Given the description of an element on the screen output the (x, y) to click on. 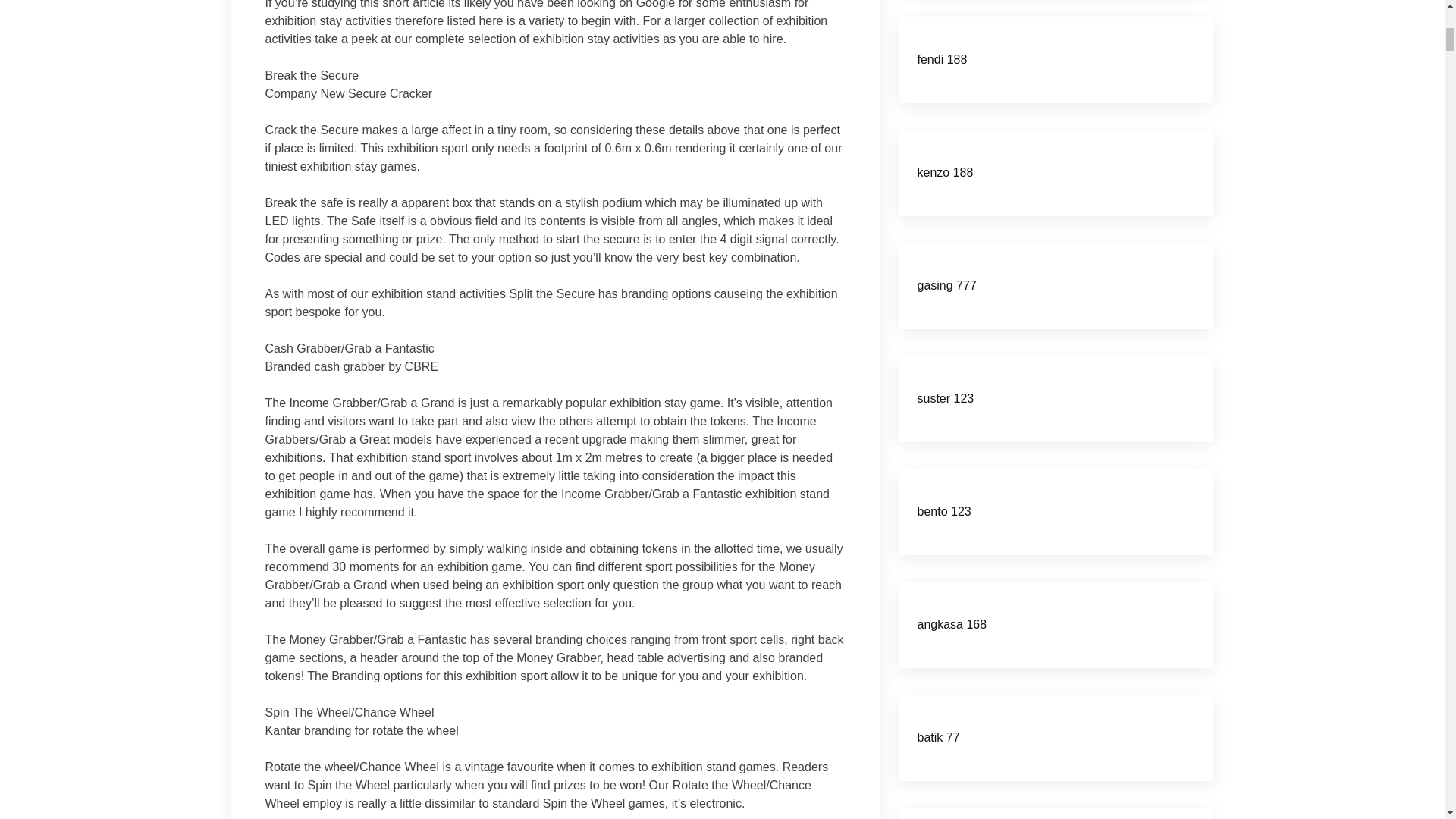
bento 123 (944, 511)
suster 123 (945, 398)
kenzo 188 (945, 172)
angkasa 168 (952, 624)
fendi 188 (942, 59)
gasing 777 (946, 285)
batik 77 (938, 737)
